Given the description of an element on the screen output the (x, y) to click on. 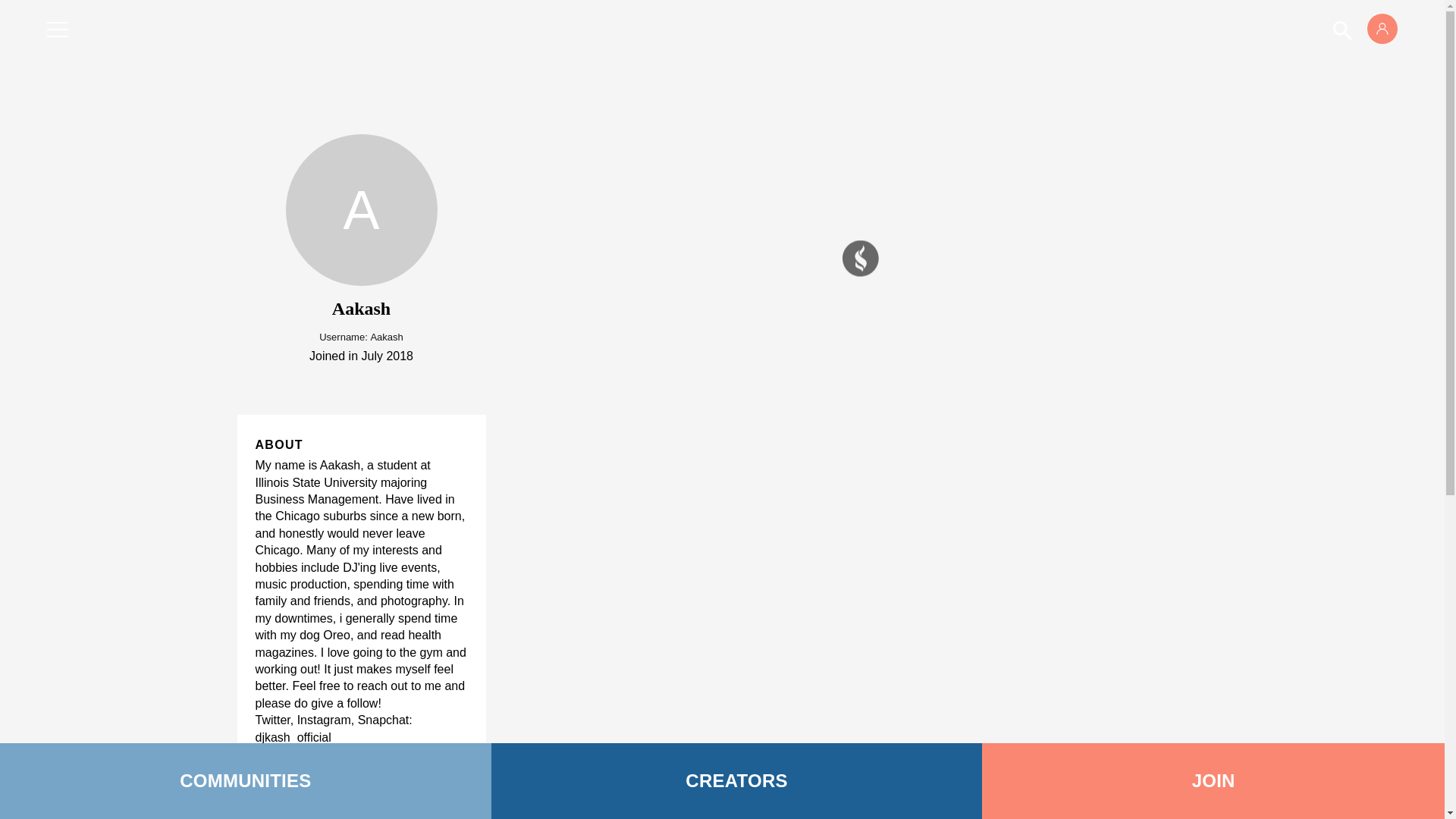
Report this User (298, 817)
COMMUNITIES (246, 780)
CREATORS (737, 780)
